Given the description of an element on the screen output the (x, y) to click on. 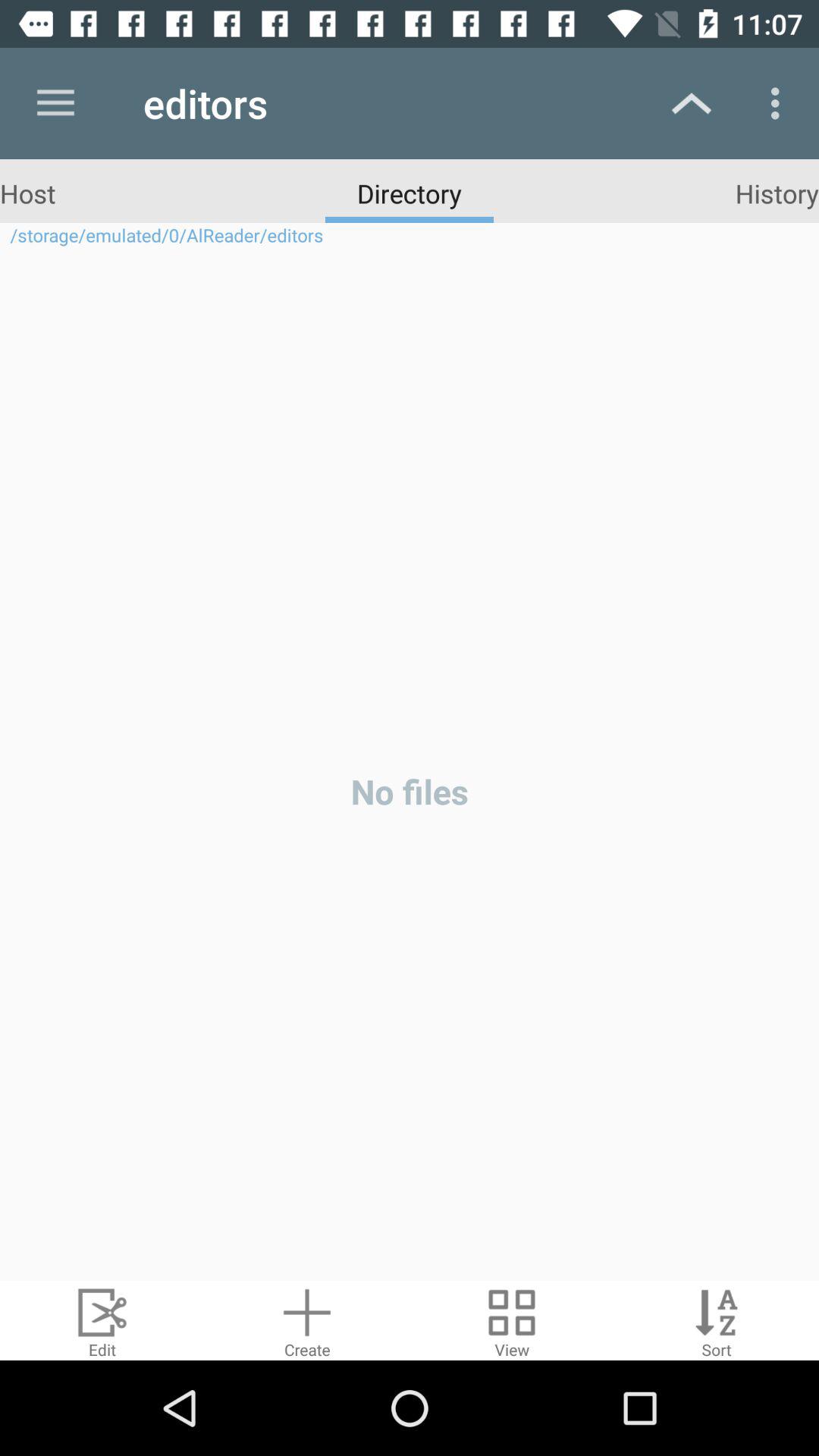
tap the item next to the directory app (777, 193)
